Given the description of an element on the screen output the (x, y) to click on. 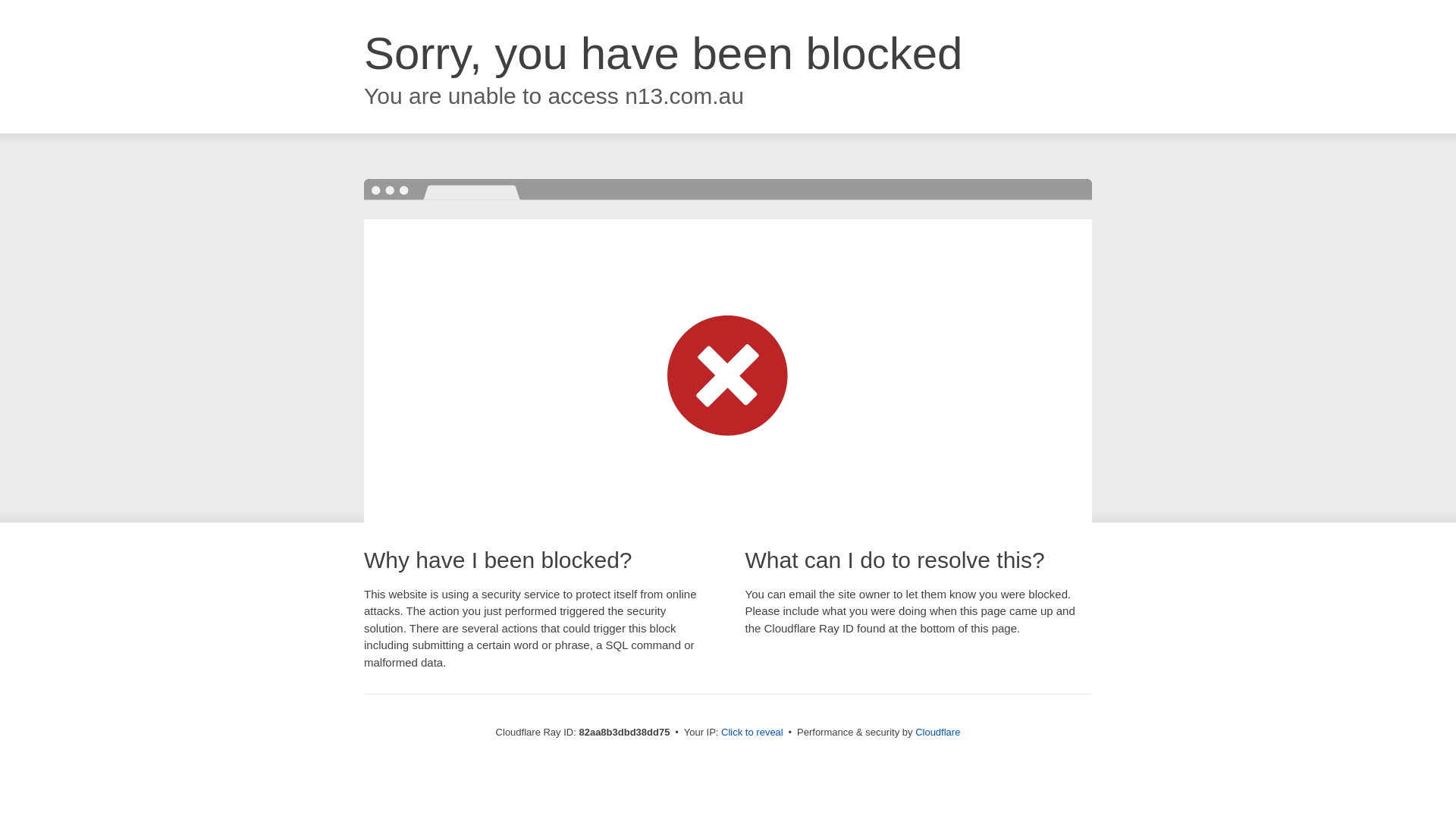
Cloudflare Element type: text (937, 731)
Click to reveal Element type: text (752, 732)
